Given the description of an element on the screen output the (x, y) to click on. 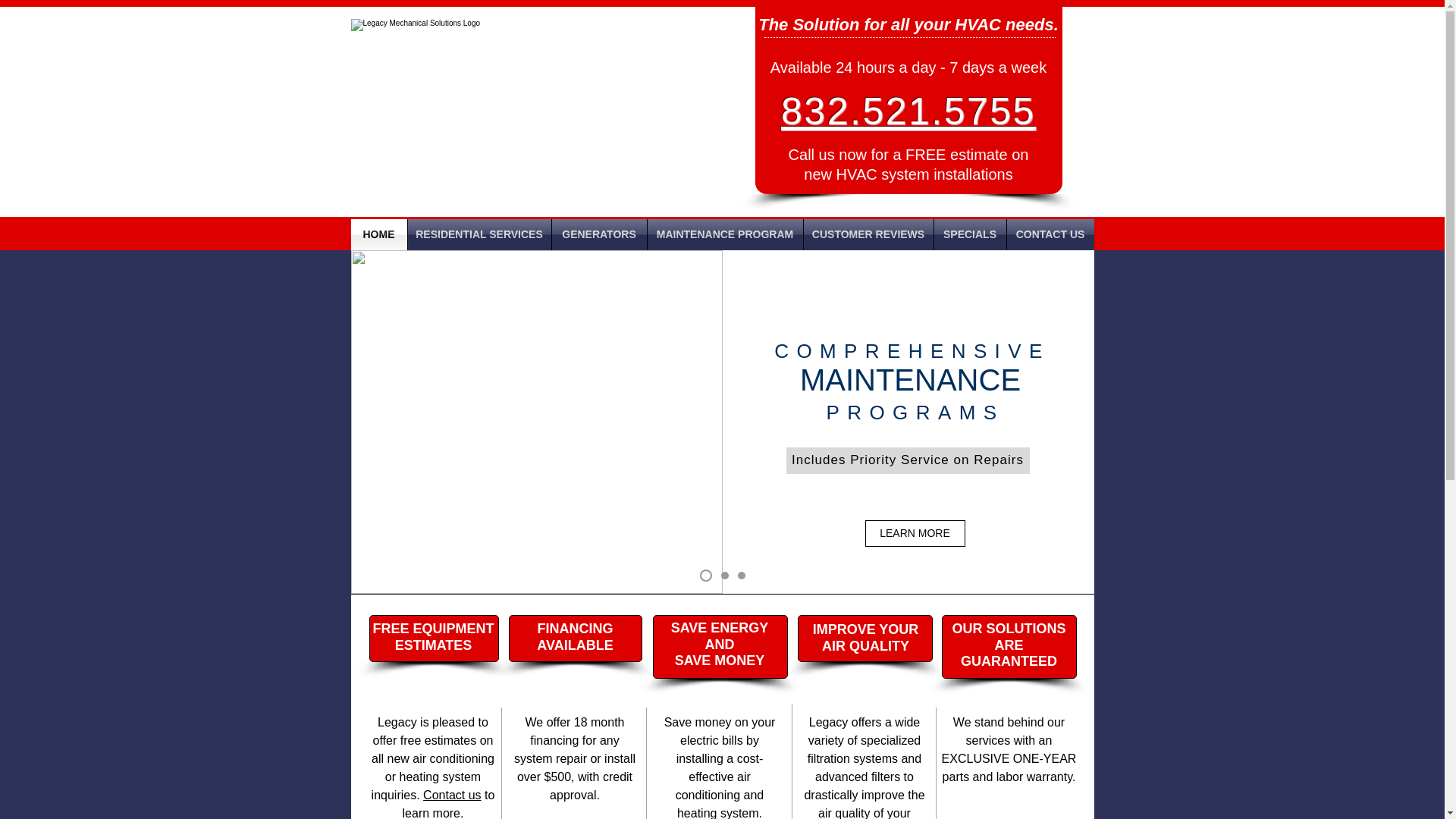
RESIDENTIAL SERVICES (479, 234)
HOME (378, 234)
Contact us (451, 794)
GENERATORS (598, 234)
CUSTOMER REVIEWS (868, 234)
LEARN MORE (913, 533)
832.521.5755 (907, 111)
SPECIALS (970, 234)
MAINTENANCE PROGRAM (725, 234)
CONTACT US (1050, 234)
